Given the description of an element on the screen output the (x, y) to click on. 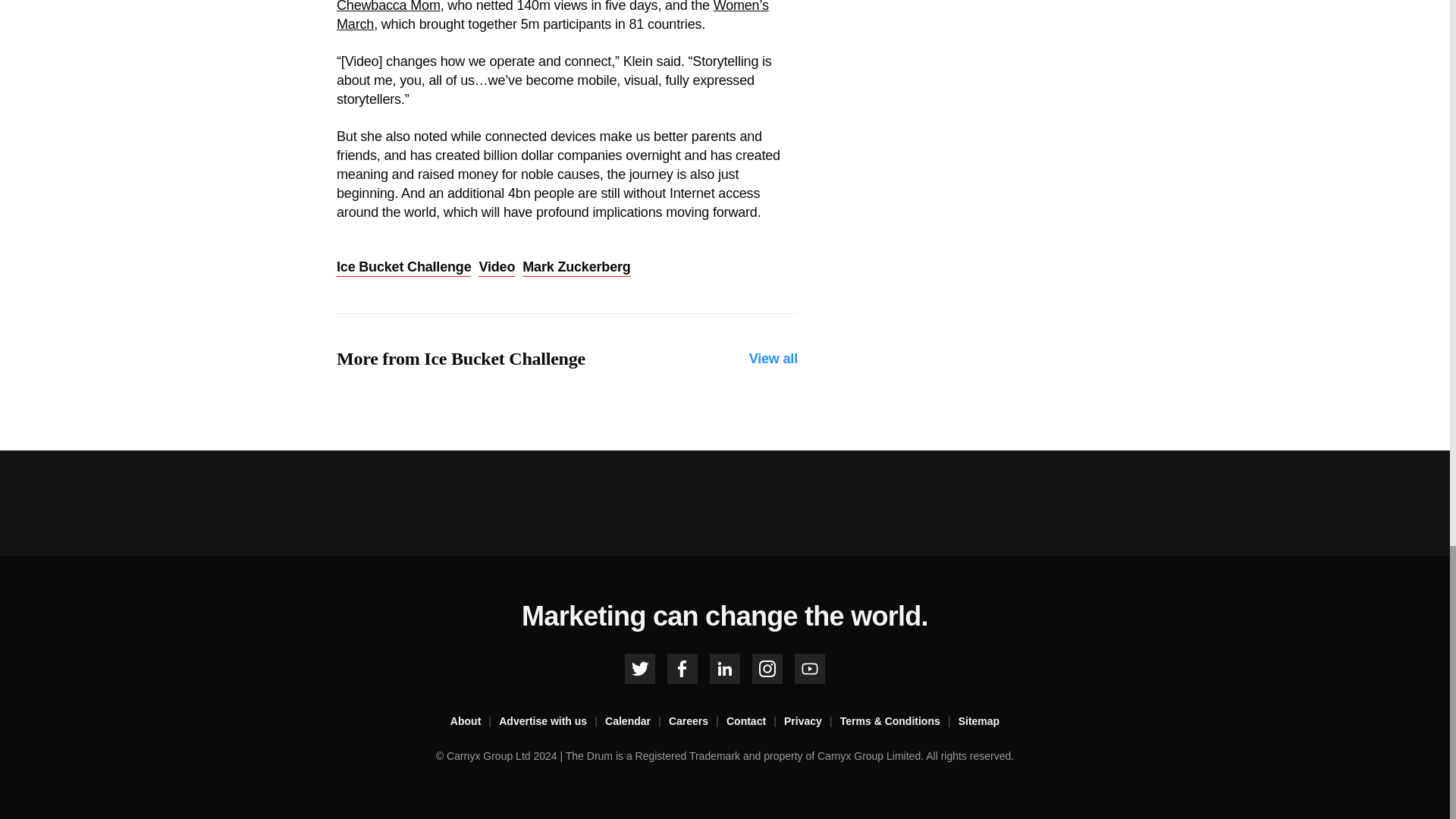
Mark Zuckerberg (576, 267)
Ice Bucket Challenge (403, 267)
Video (497, 267)
View all (773, 358)
Chewbacca Mom (388, 6)
